Given the description of an element on the screen output the (x, y) to click on. 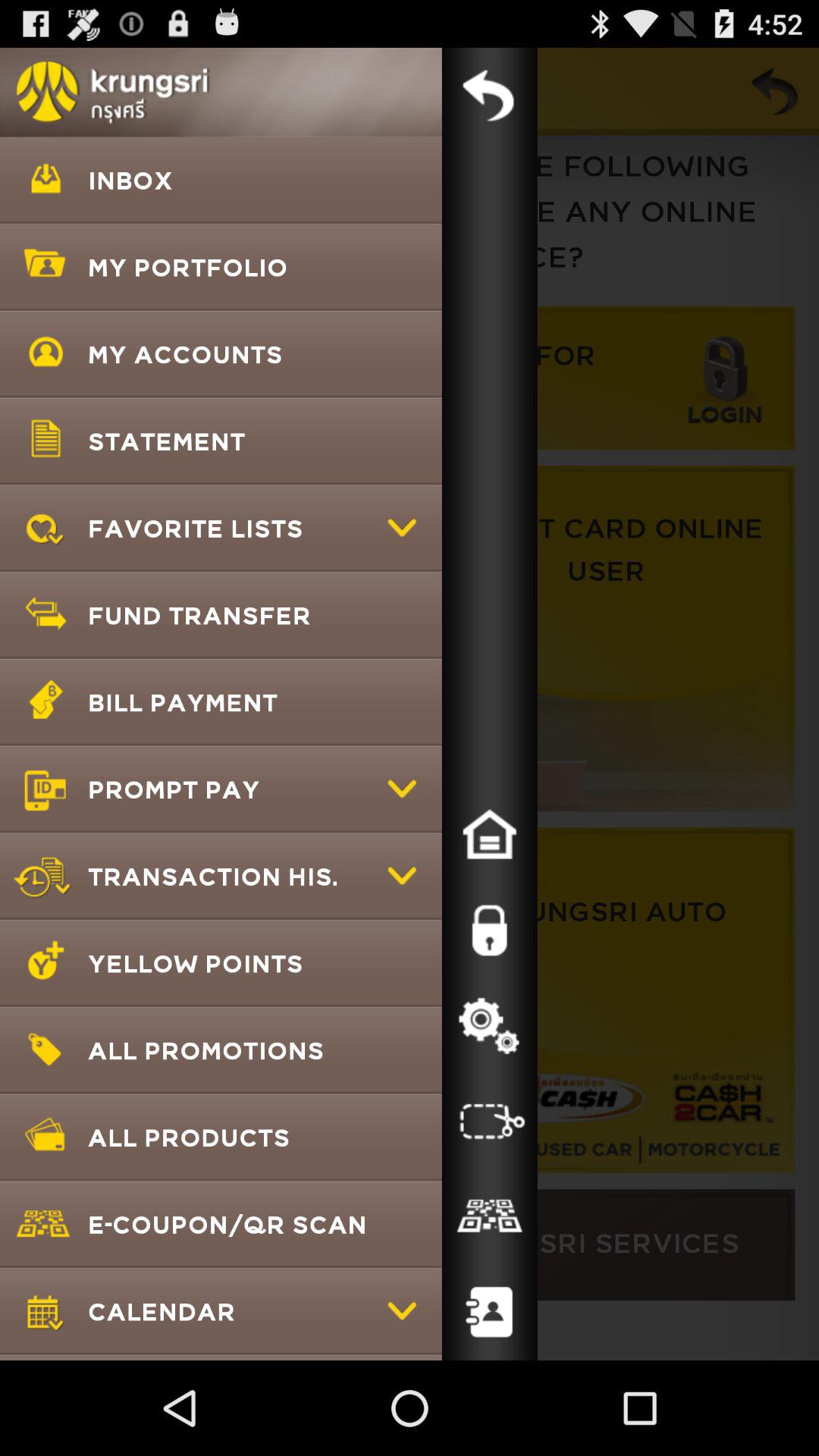
go to settings (489, 1025)
